Given the description of an element on the screen output the (x, y) to click on. 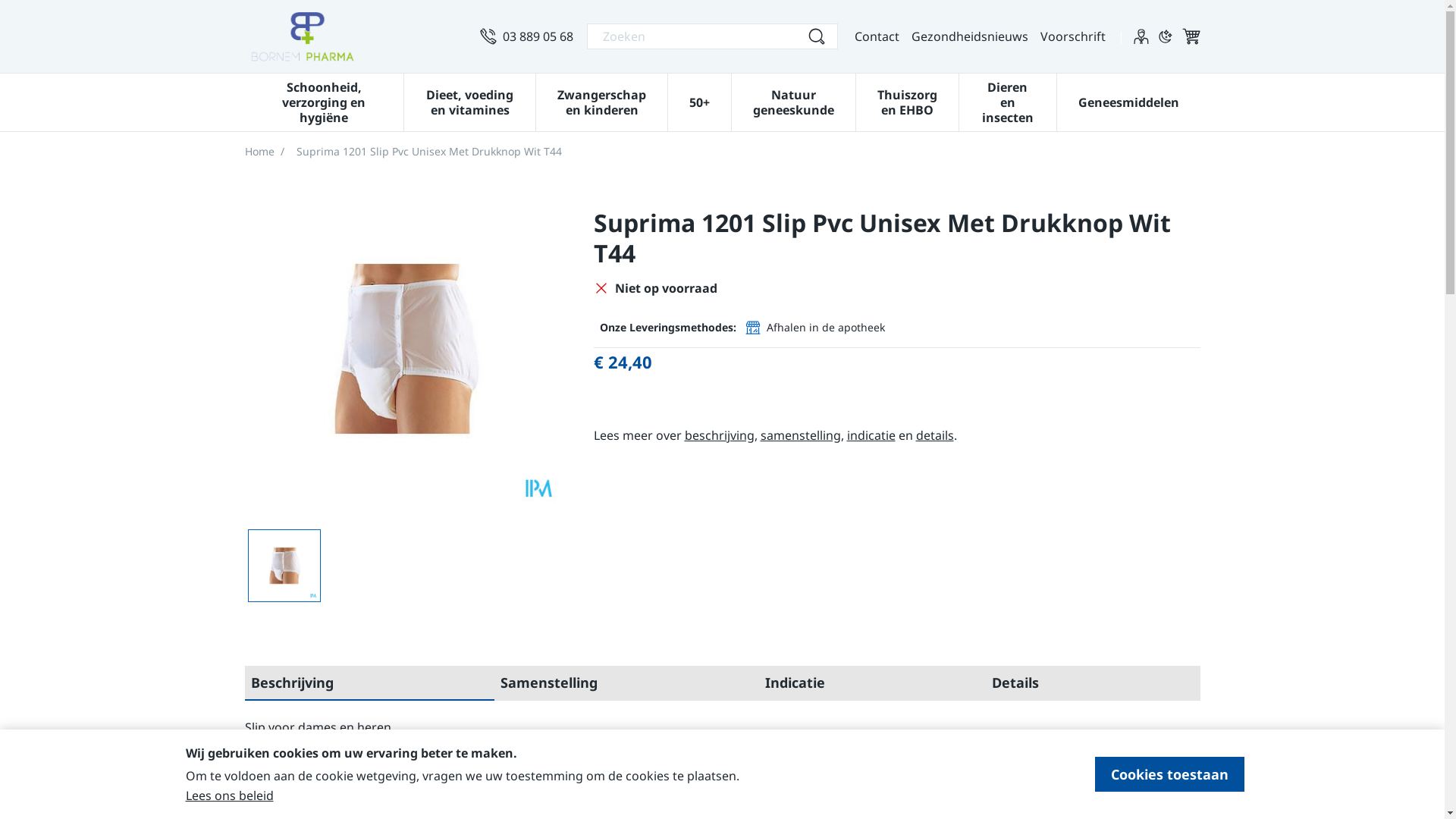
Thuiszorg en EHBO Element type: text (907, 100)
Voorschrift Element type: text (1072, 36)
Geneesmiddelen Element type: text (1128, 100)
Dieren en insecten Element type: text (1007, 100)
Suprima 1201 Slip Pvc Unisex Met Drukknop Wit T44 Element type: hover (403, 348)
Apotheek Bornem Pharma Element type: hover (301, 36)
03 889 05 68 Element type: text (525, 36)
Home Element type: text (258, 151)
Suprima 1201 Slip Pvc Unisex Met Drukknop Wit T44 Element type: hover (284, 565)
Cookies toestaan Element type: text (1169, 773)
Gezondheidsnieuws Element type: text (969, 36)
Apotheek Bornem Pharma Element type: hover (355, 36)
Winkelwagen Element type: text (1190, 36)
Donkere modus Element type: text (1164, 35)
Natuur geneeskunde Element type: text (793, 100)
Zwangerschap en kinderen Element type: text (601, 100)
Zoeken Element type: text (815, 36)
Lees ons beleid Element type: text (229, 795)
Dieet, voeding en vitamines Element type: text (469, 100)
50+ Element type: text (699, 100)
Klant menu Element type: text (1140, 35)
Contact Element type: text (875, 36)
